Given the description of an element on the screen output the (x, y) to click on. 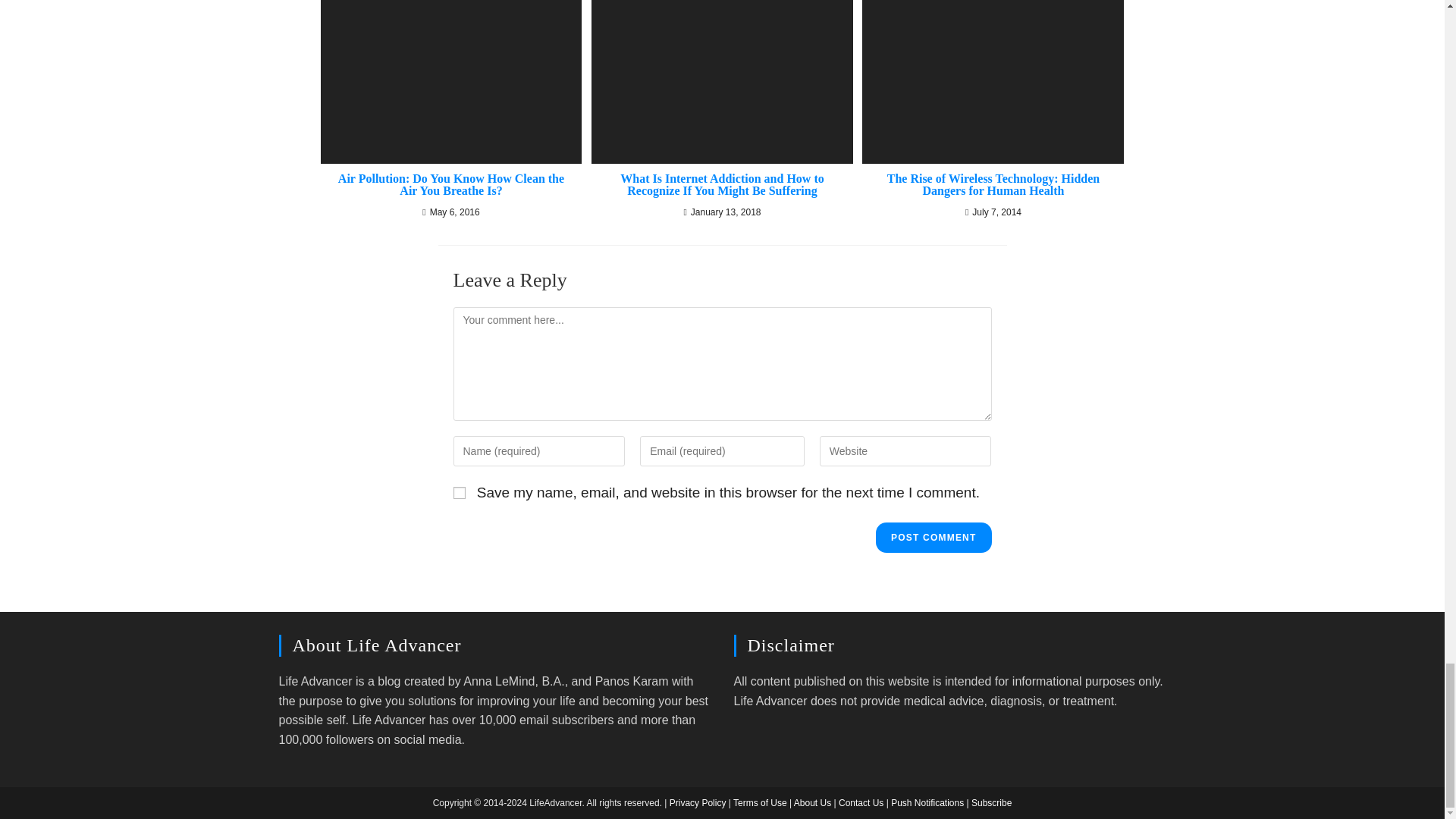
Post Comment (933, 537)
yes (458, 492)
